Given the description of an element on the screen output the (x, y) to click on. 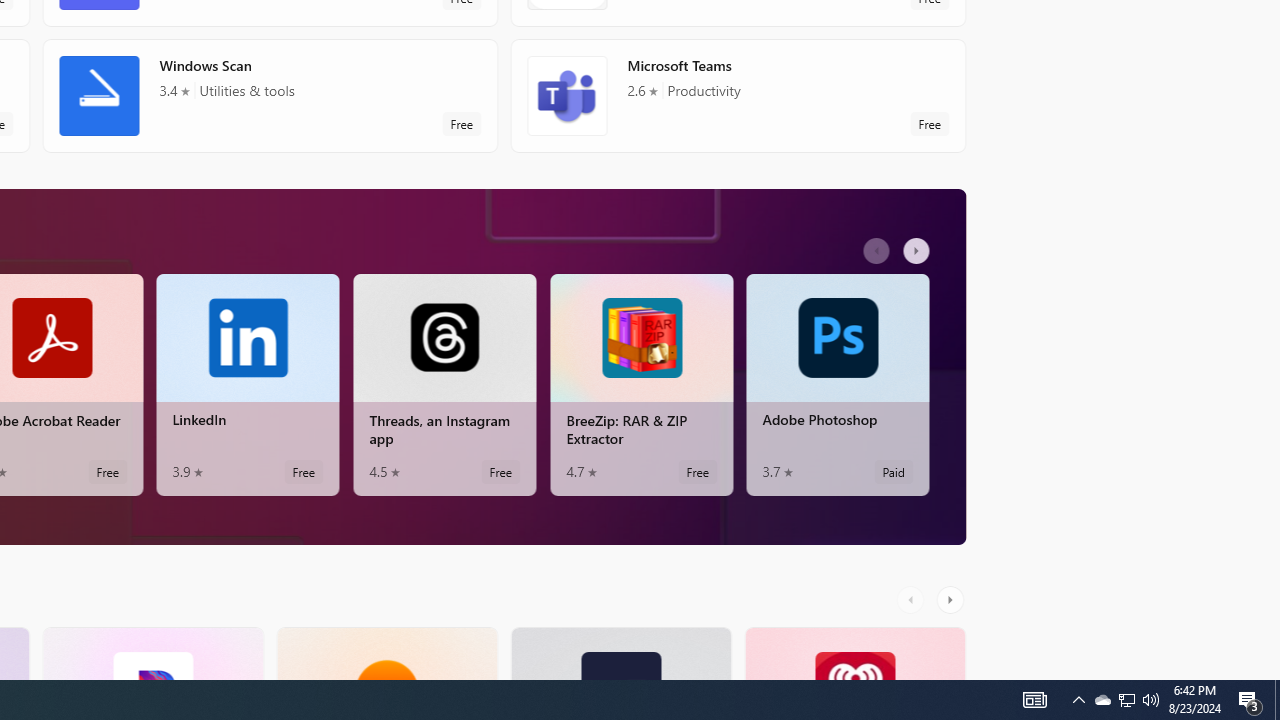
AutomationID: RightScrollButton (952, 599)
Pandora. Average rating of 4.5 out of five stars. Free   (152, 653)
AutomationID: LeftScrollButton (913, 599)
LinkedIn. Average rating of 3.9 out of five stars. Free   (247, 384)
